Given the description of an element on the screen output the (x, y) to click on. 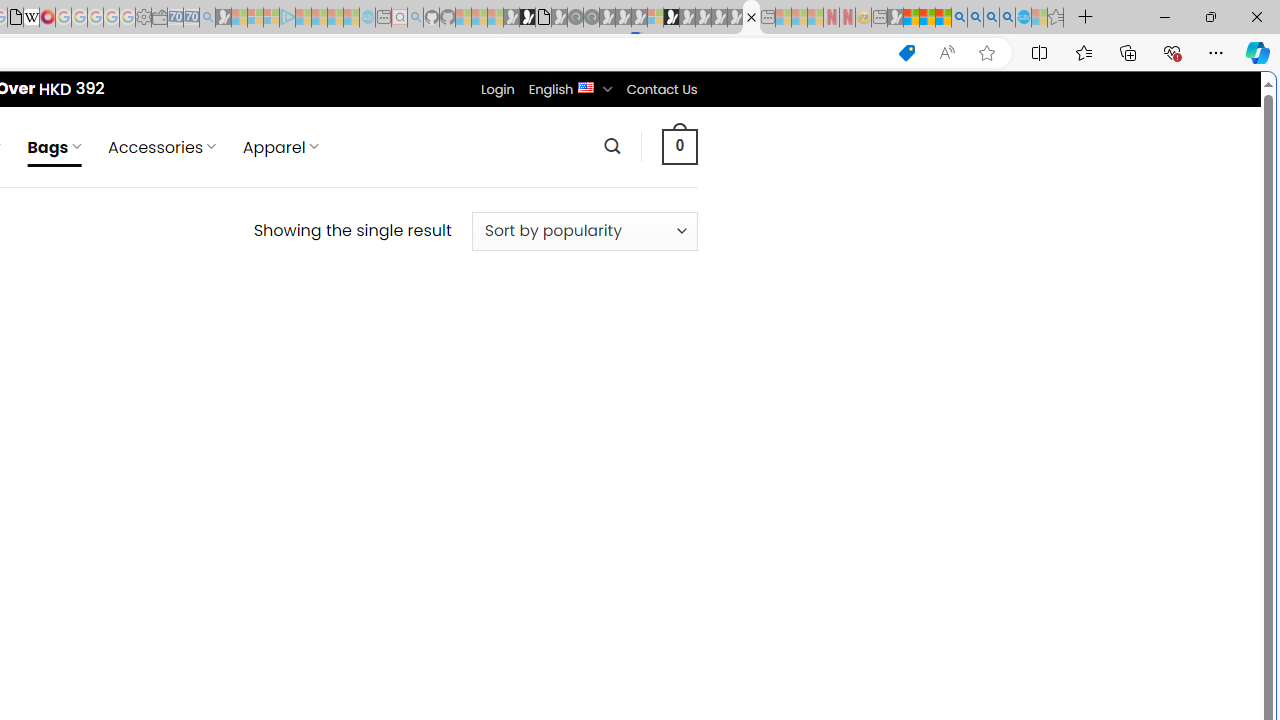
English (586, 86)
Home | Sky Blue Bikes - Sky Blue Bikes (687, 426)
2009 Bing officially replaced Live Search on June 3 - Search (975, 17)
Search or enter web address (343, 191)
Play Zoo Boom in your browser | Games from Microsoft Start (527, 17)
